Given the description of an element on the screen output the (x, y) to click on. 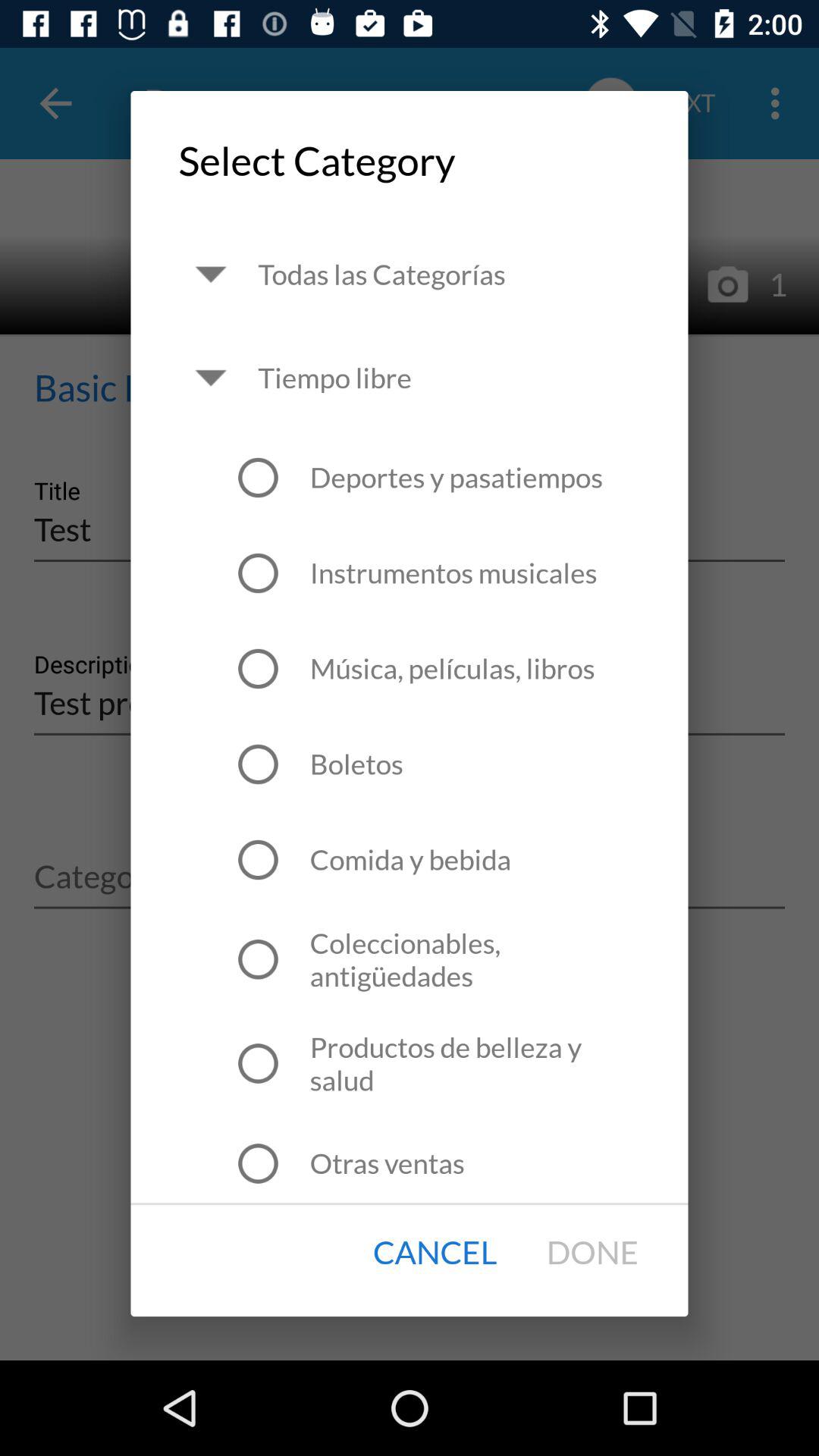
scroll to productos de belleza icon (474, 1063)
